Given the description of an element on the screen output the (x, y) to click on. 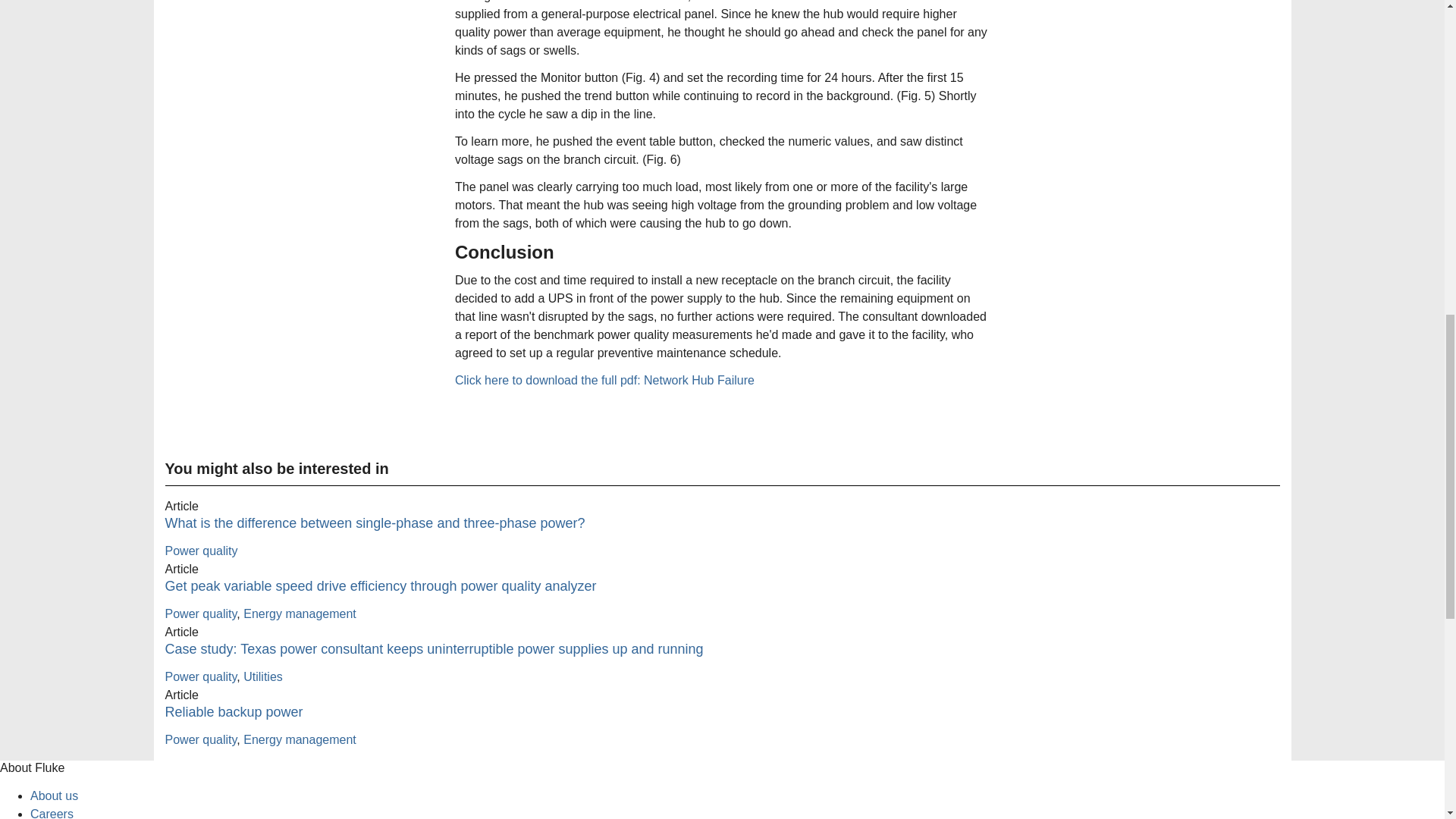
About us (54, 795)
Careers (52, 813)
